Given the description of an element on the screen output the (x, y) to click on. 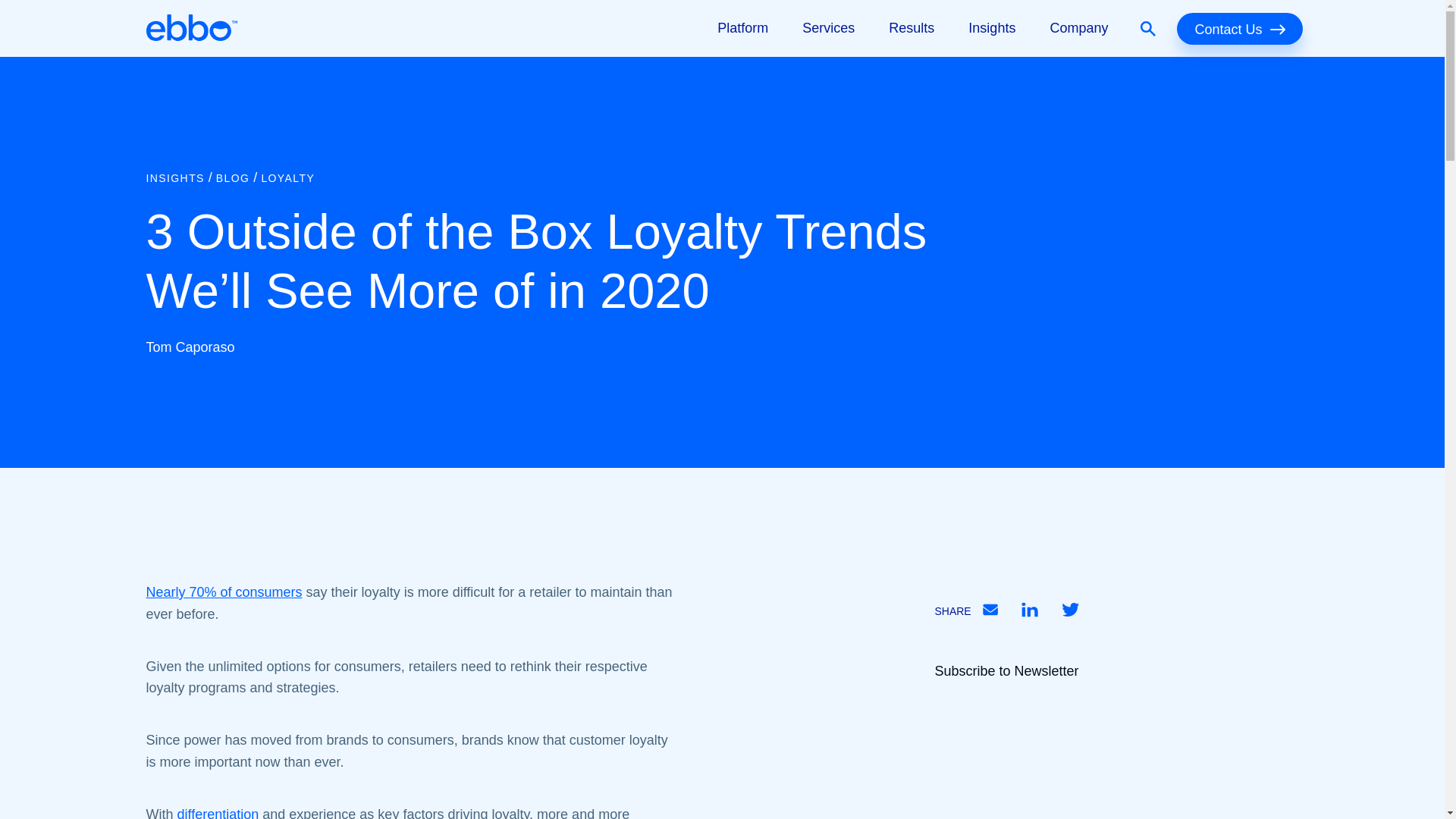
Results (910, 28)
Platform (742, 28)
Company (1078, 28)
Services (828, 28)
Insights (991, 28)
Home (190, 27)
